Given the description of an element on the screen output the (x, y) to click on. 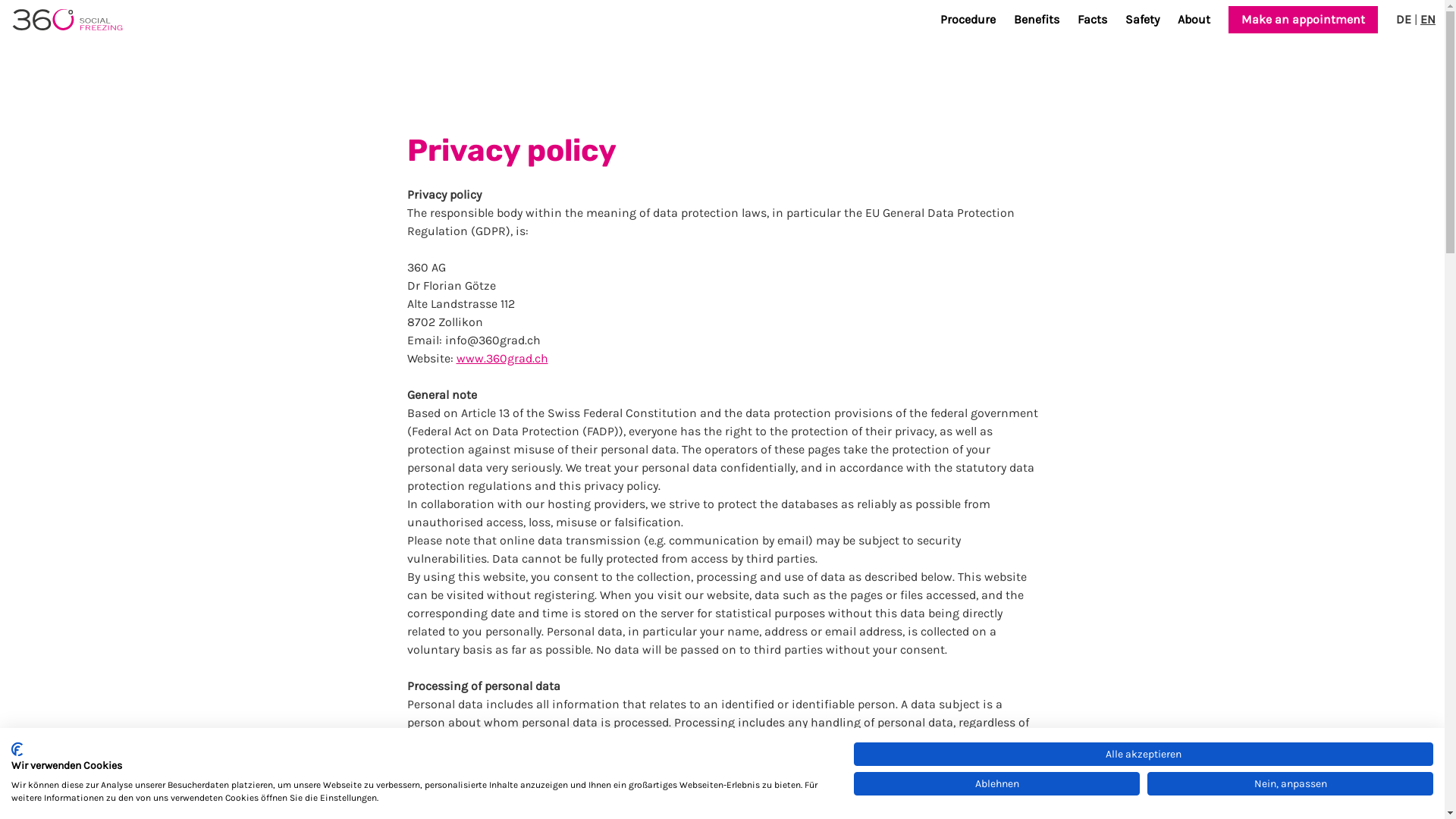
EN Element type: text (1427, 19)
www.360grad.ch Element type: text (502, 358)
About Element type: text (1193, 19)
Facts Element type: text (1092, 19)
Nein, anpassen Element type: text (1290, 783)
Procedure Element type: text (967, 19)
DE Element type: text (1403, 19)
Benefits Element type: text (1036, 19)
Ablehnen Element type: text (996, 783)
Alle akzeptieren Element type: text (1143, 753)
Safety Element type: text (1142, 19)
Make an appointment Element type: text (1302, 19)
